Given the description of an element on the screen output the (x, y) to click on. 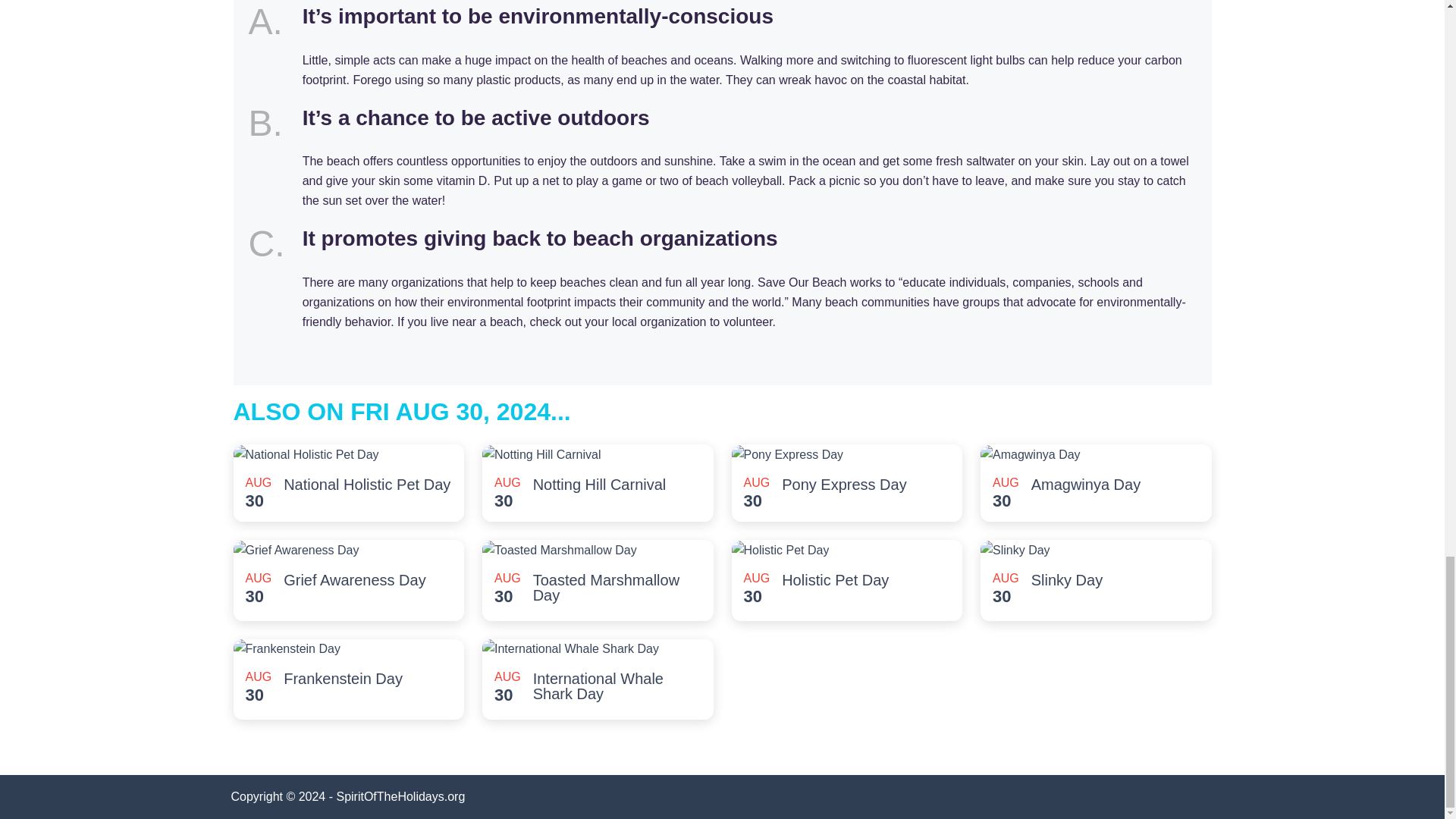
Notting Hill Carnival (599, 484)
Grief Awareness Day (354, 580)
National Holistic Pet Day (366, 484)
Pony Express Day (844, 484)
Toasted Marshmallow Day (616, 587)
Amagwinya Day (1085, 484)
